Given the description of an element on the screen output the (x, y) to click on. 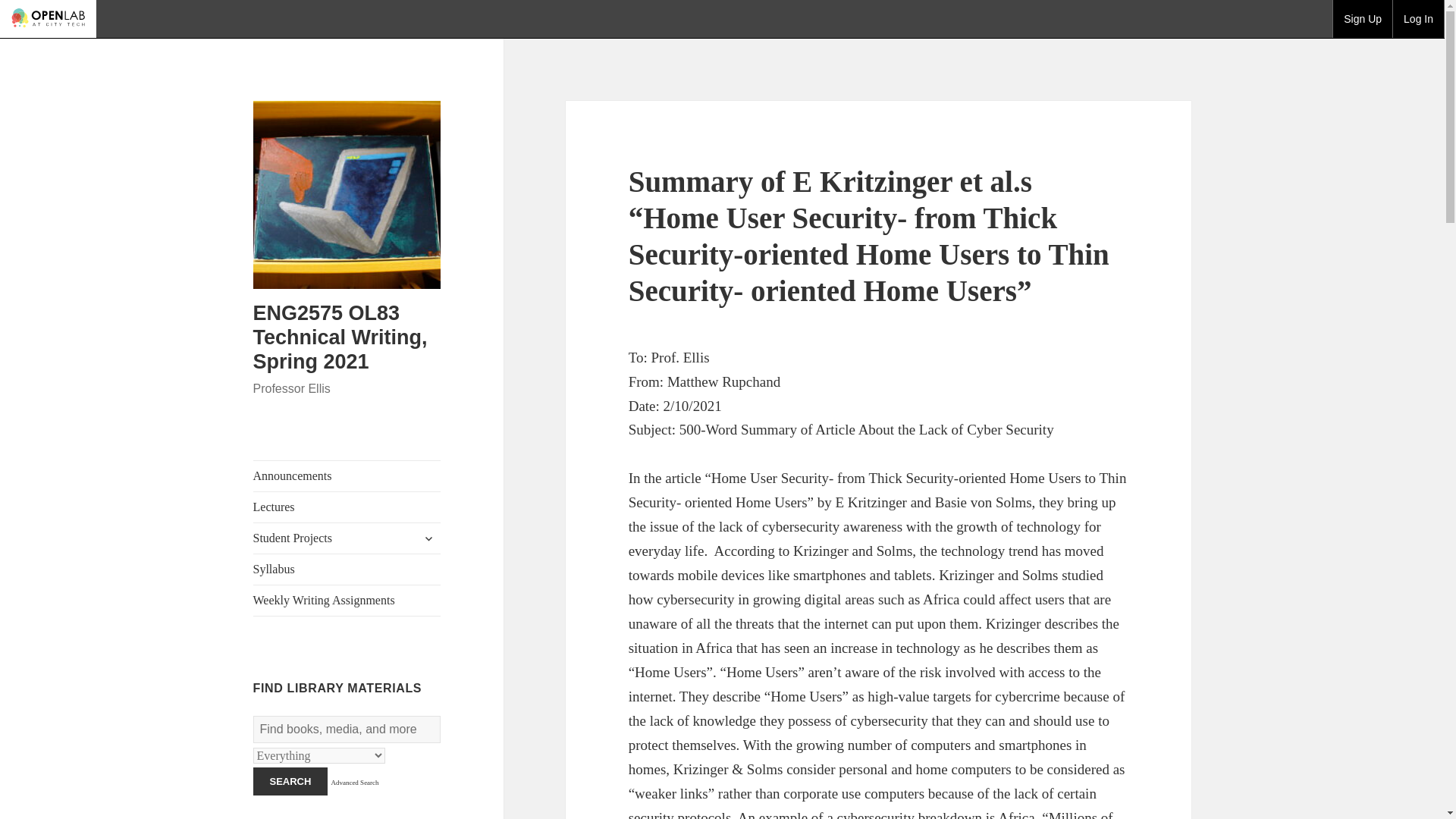
Search (291, 781)
Announcements (347, 476)
Syllabus (347, 569)
Advanced Search (354, 782)
Lectures (347, 507)
Student Projects (347, 538)
ENG2575 OL83 Technical Writing, Spring 2021 (340, 337)
Weekly Writing Assignments (347, 600)
Search (291, 781)
Sign Up (1362, 18)
expand child menu (428, 538)
